Given the description of an element on the screen output the (x, y) to click on. 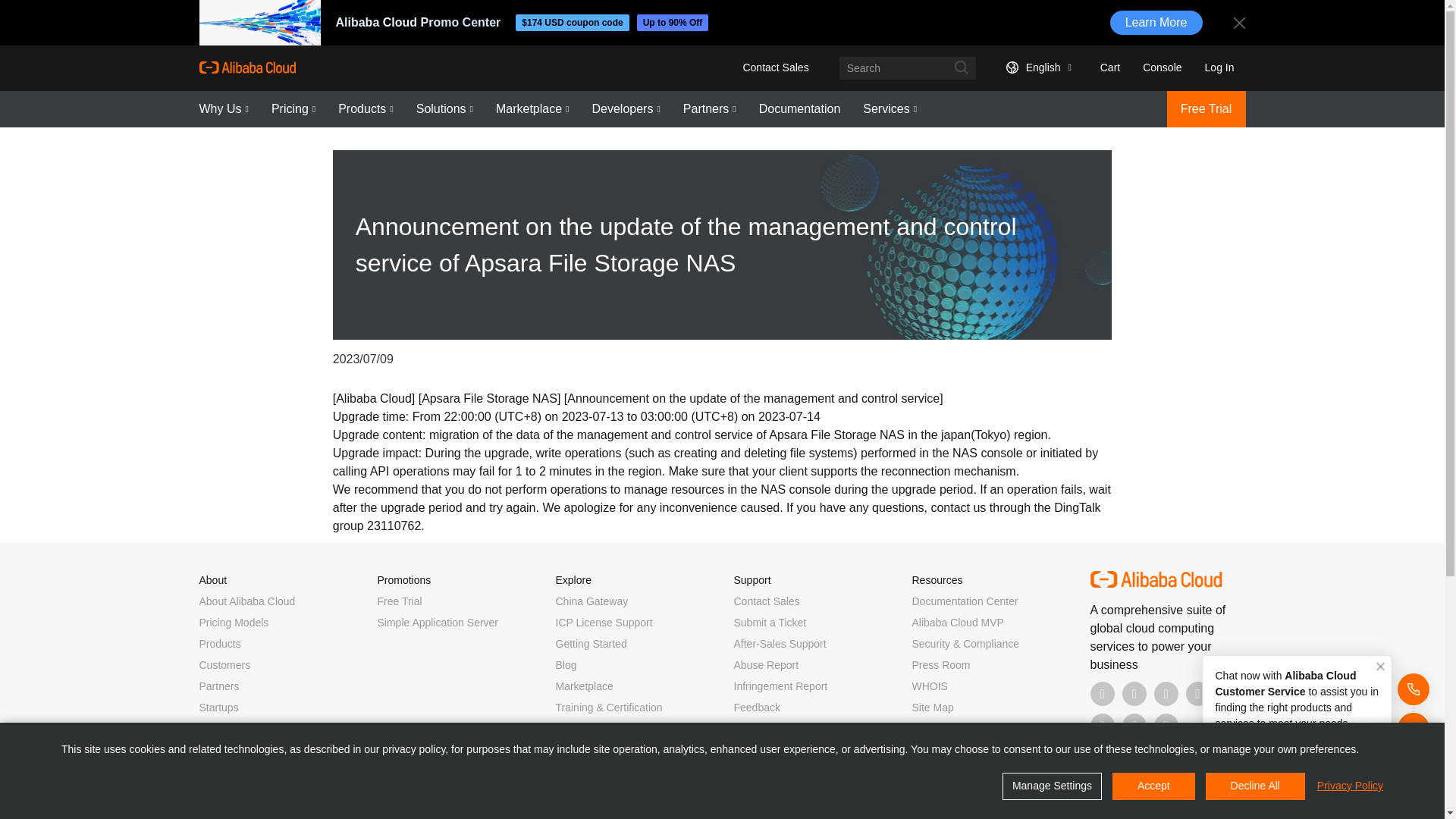
Facebook (1102, 693)
Call Us Now (1165, 725)
TikTok (1102, 725)
Linkedin (1134, 693)
English (1035, 67)
YouTube (1197, 693)
Contact Sales (774, 67)
Alibaba Cloud (246, 67)
Twitter (1165, 693)
